Given the description of an element on the screen output the (x, y) to click on. 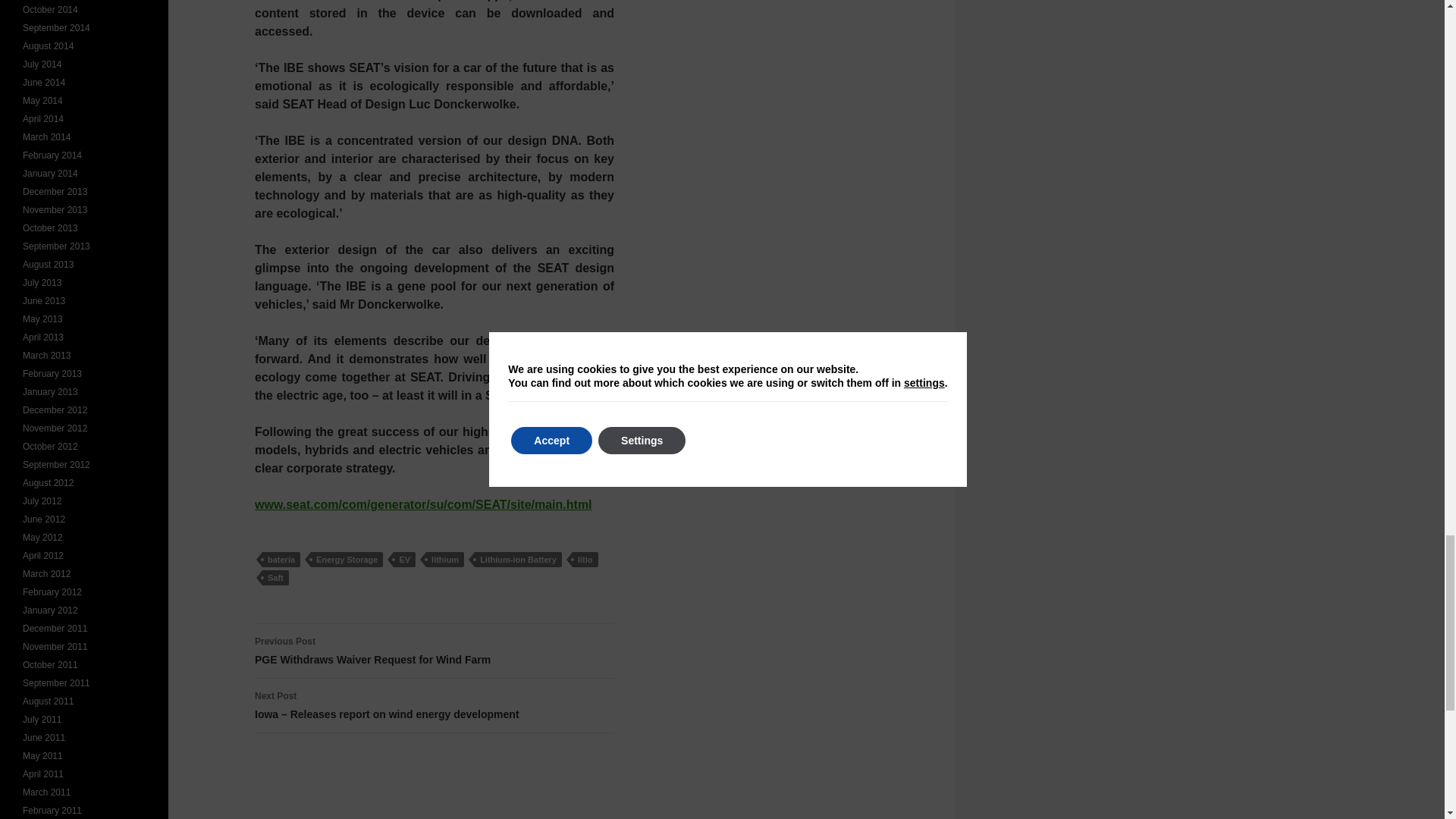
litio (585, 559)
Lithium-ion Battery (518, 559)
lithium (445, 559)
Energy Storage (346, 559)
EV (434, 651)
Saft (403, 559)
